Given the description of an element on the screen output the (x, y) to click on. 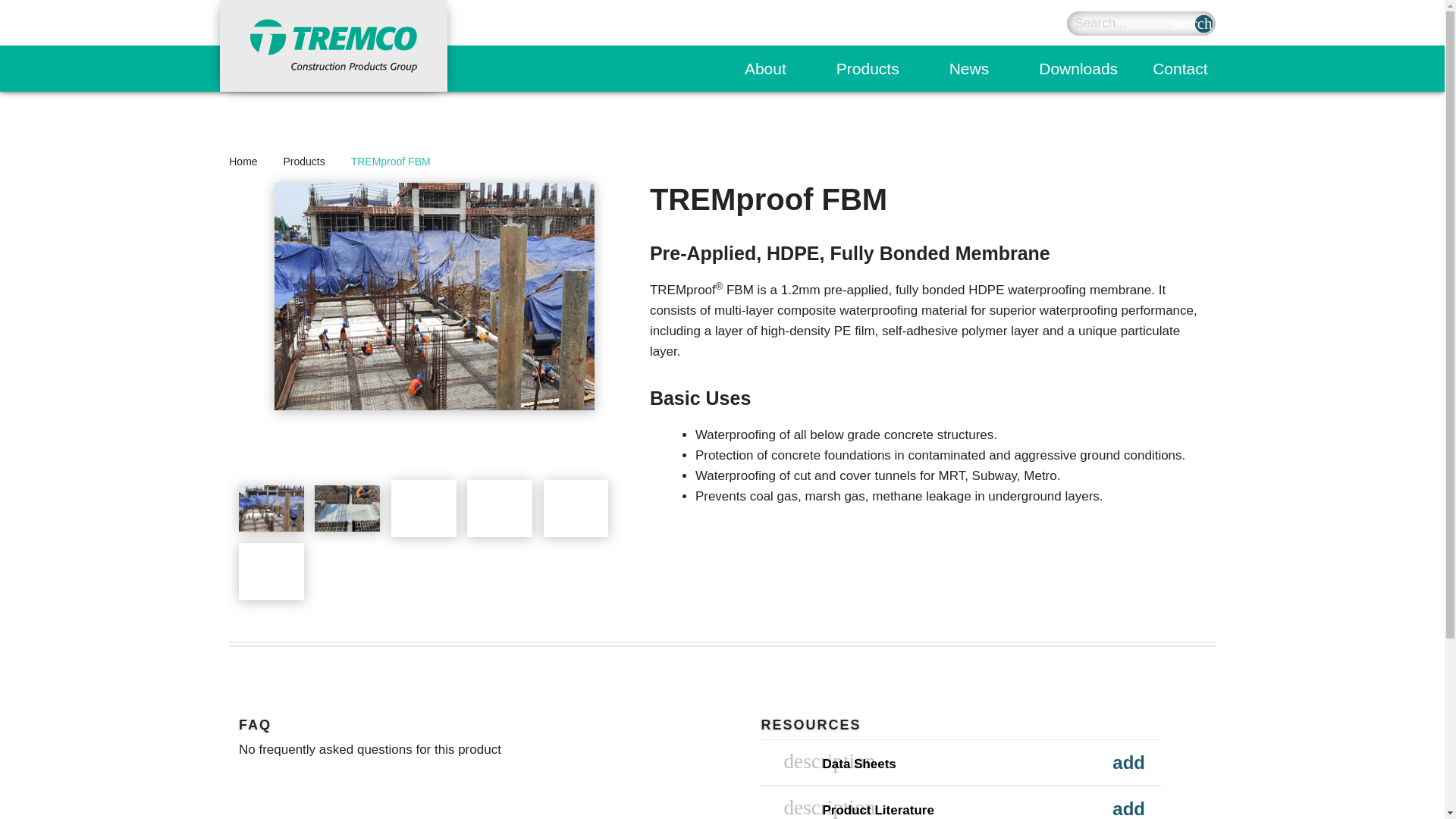
Products (874, 68)
Contact (1179, 68)
Contact (1179, 68)
News (976, 68)
search (1203, 23)
News (976, 68)
About (772, 68)
Downloads (1078, 68)
Downloads (1078, 68)
Web Analytics (30, 10)
Products (874, 68)
